Given the description of an element on the screen output the (x, y) to click on. 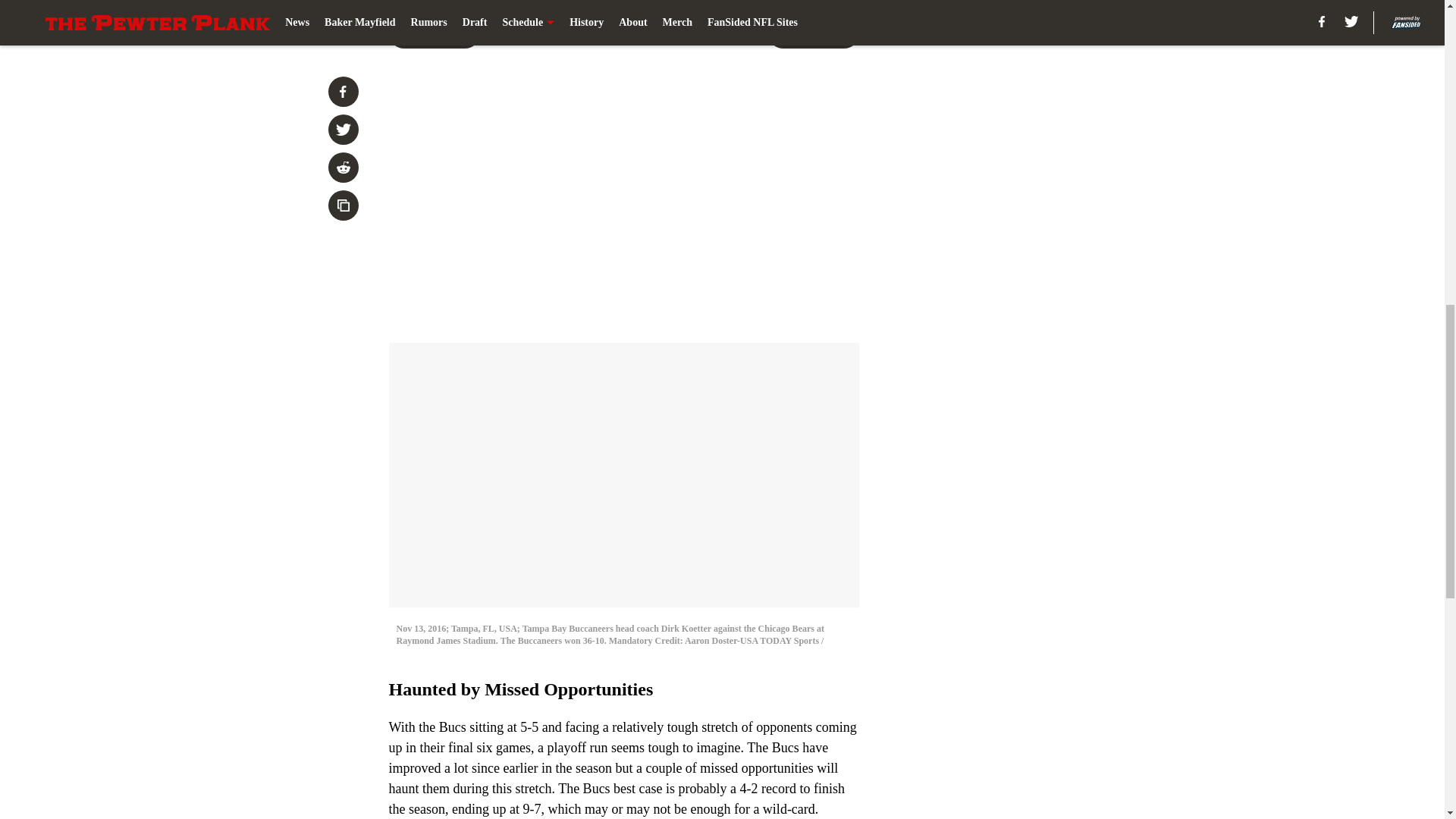
Prev (433, 33)
Next (813, 33)
